Given the description of an element on the screen output the (x, y) to click on. 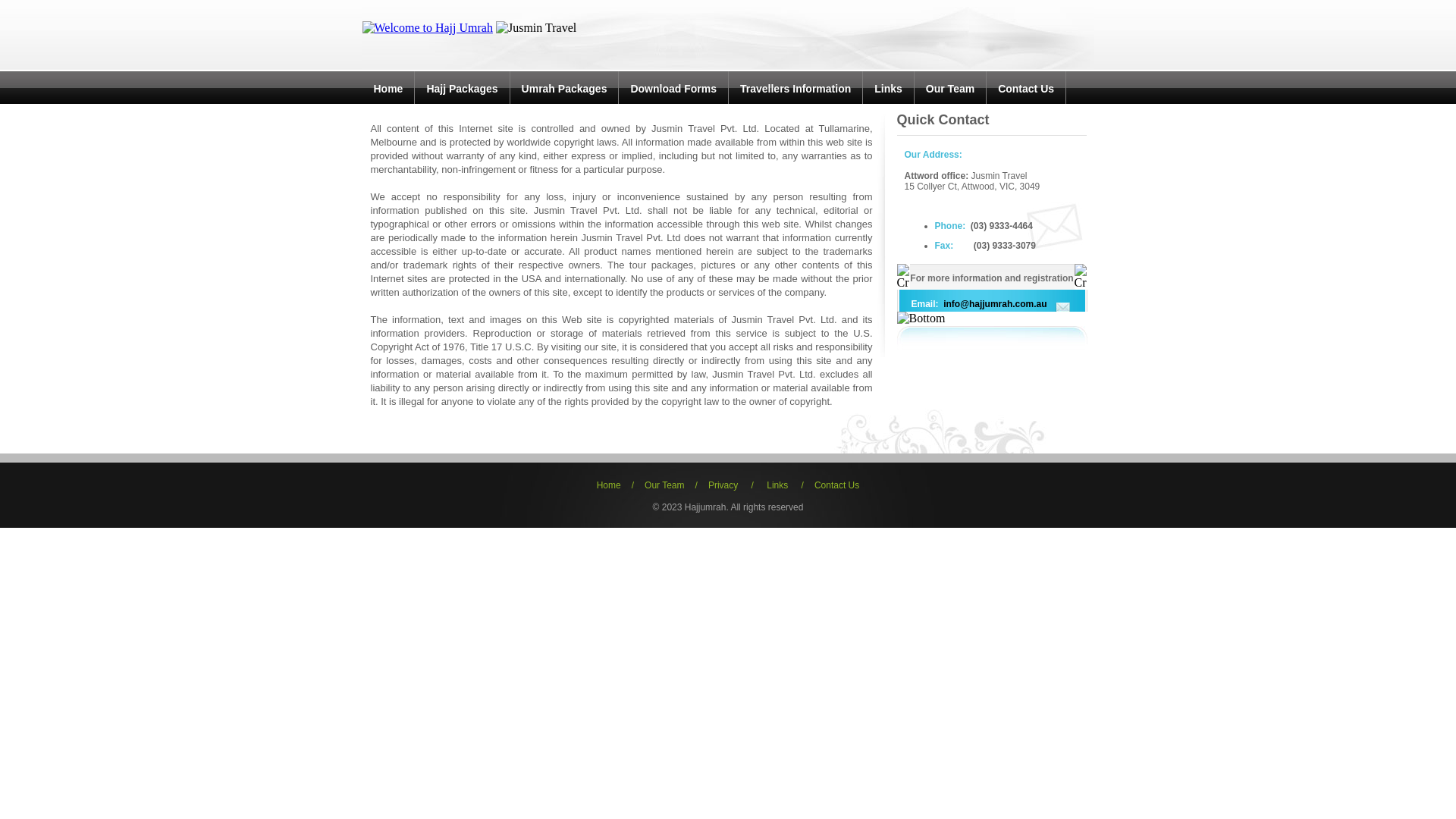
Our Team Element type: text (949, 88)
Hajj Packages Element type: text (461, 88)
Download Forms Element type: text (673, 88)
Our Team Element type: text (663, 485)
Travellers Information Element type: text (795, 88)
 info@hajjumrah.com.au Element type: text (994, 303)
Home Element type: text (608, 485)
Contact Us Element type: text (1025, 88)
Umrah Packages Element type: text (564, 88)
Home Element type: text (387, 88)
Links Element type: text (777, 485)
Links Element type: text (888, 88)
Privacy Element type: text (722, 485)
Contact Us Element type: text (836, 485)
